Given the description of an element on the screen output the (x, y) to click on. 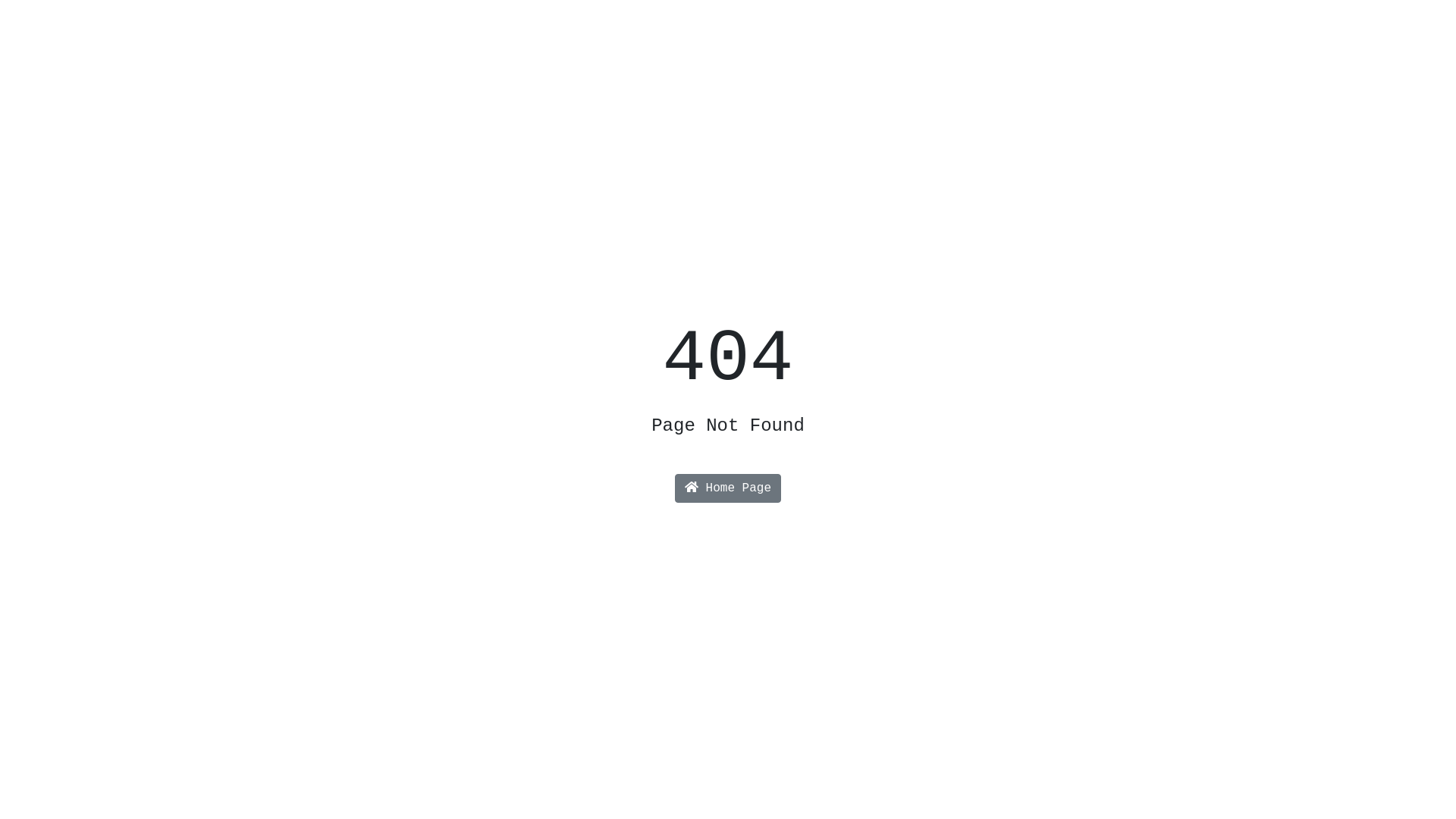
Home Page Element type: text (727, 487)
